Given the description of an element on the screen output the (x, y) to click on. 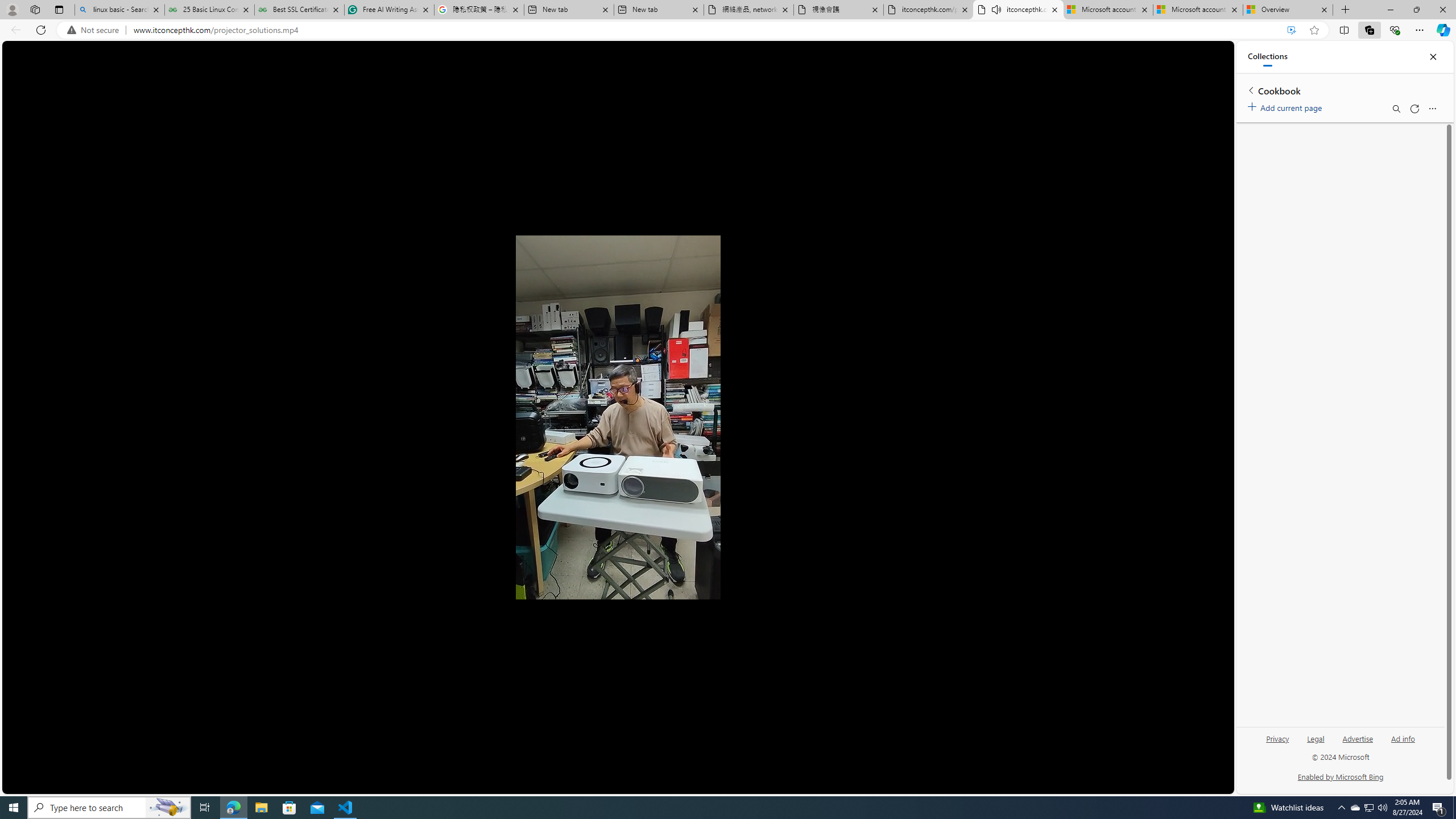
linux basic - Search (118, 9)
25 Basic Linux Commands For Beginners - GeeksforGeeks (209, 9)
itconcepthk.com/projector_solutions.mp4 (928, 9)
Best SSL Certificates Provider in India - GeeksforGeeks (298, 9)
